Given the description of an element on the screen output the (x, y) to click on. 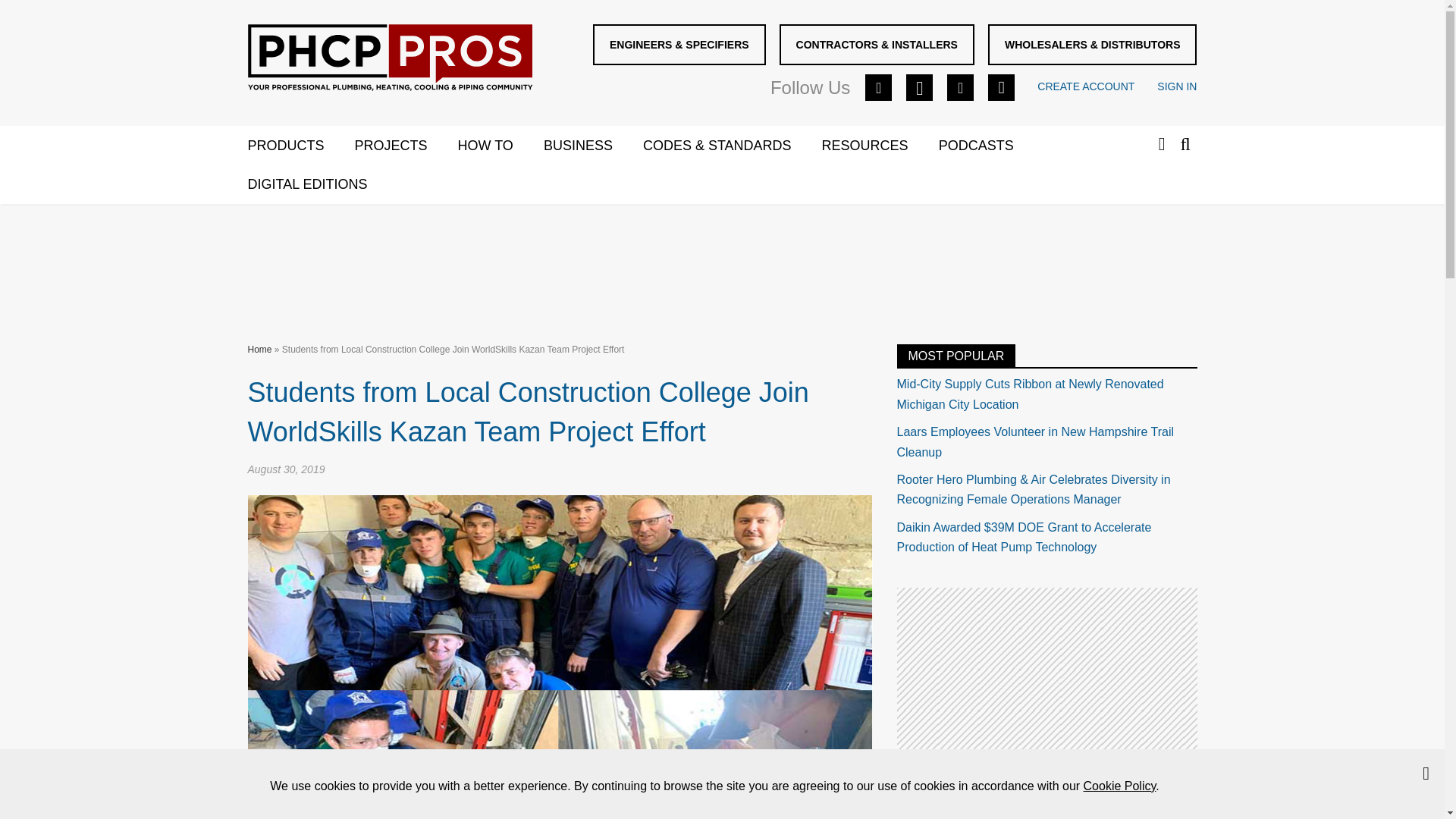
3rd party ad content (721, 260)
3rd party ad content (1046, 682)
logo (389, 57)
